Given the description of an element on the screen output the (x, y) to click on. 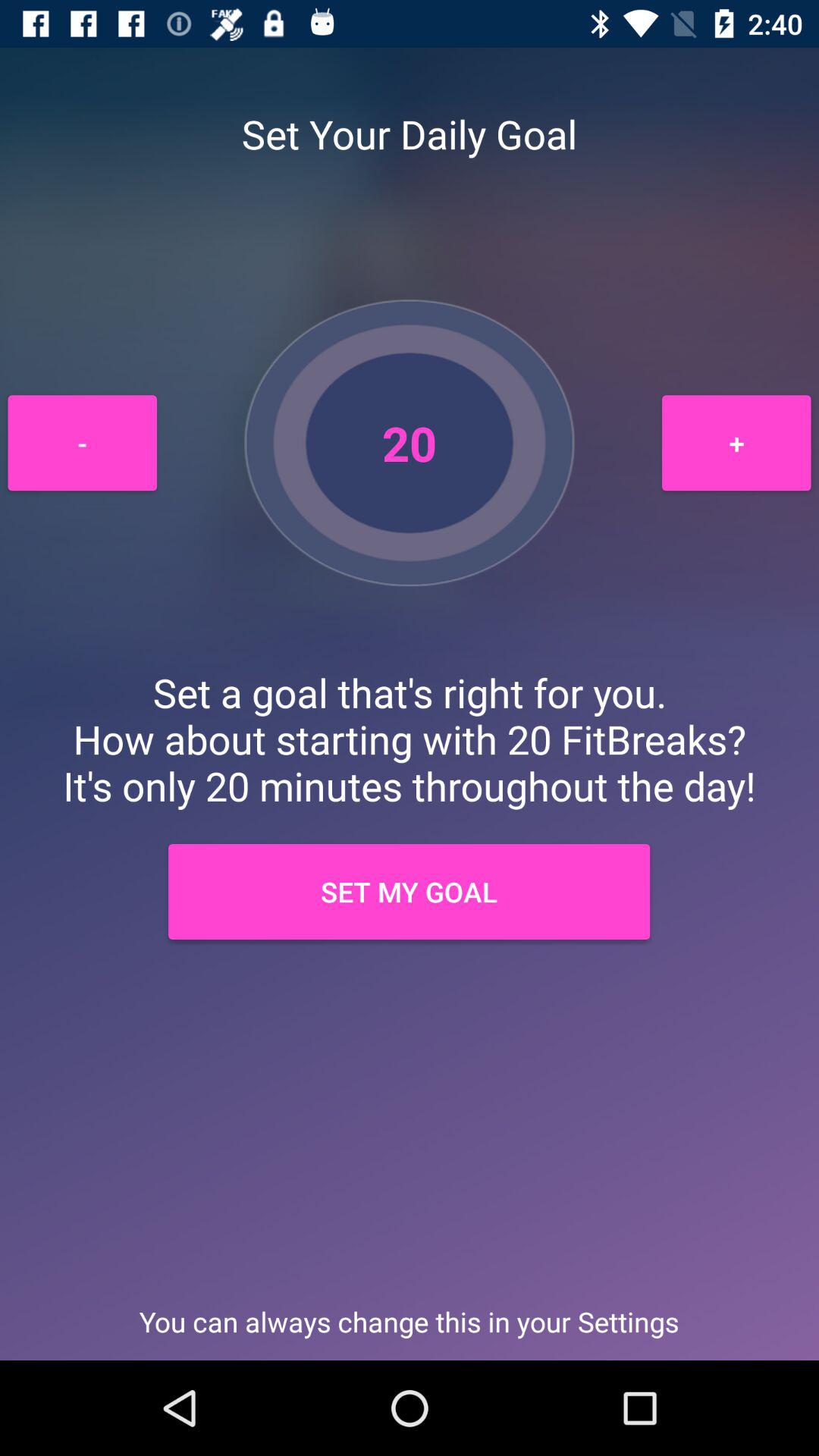
launch - at the top left corner (82, 442)
